Given the description of an element on the screen output the (x, y) to click on. 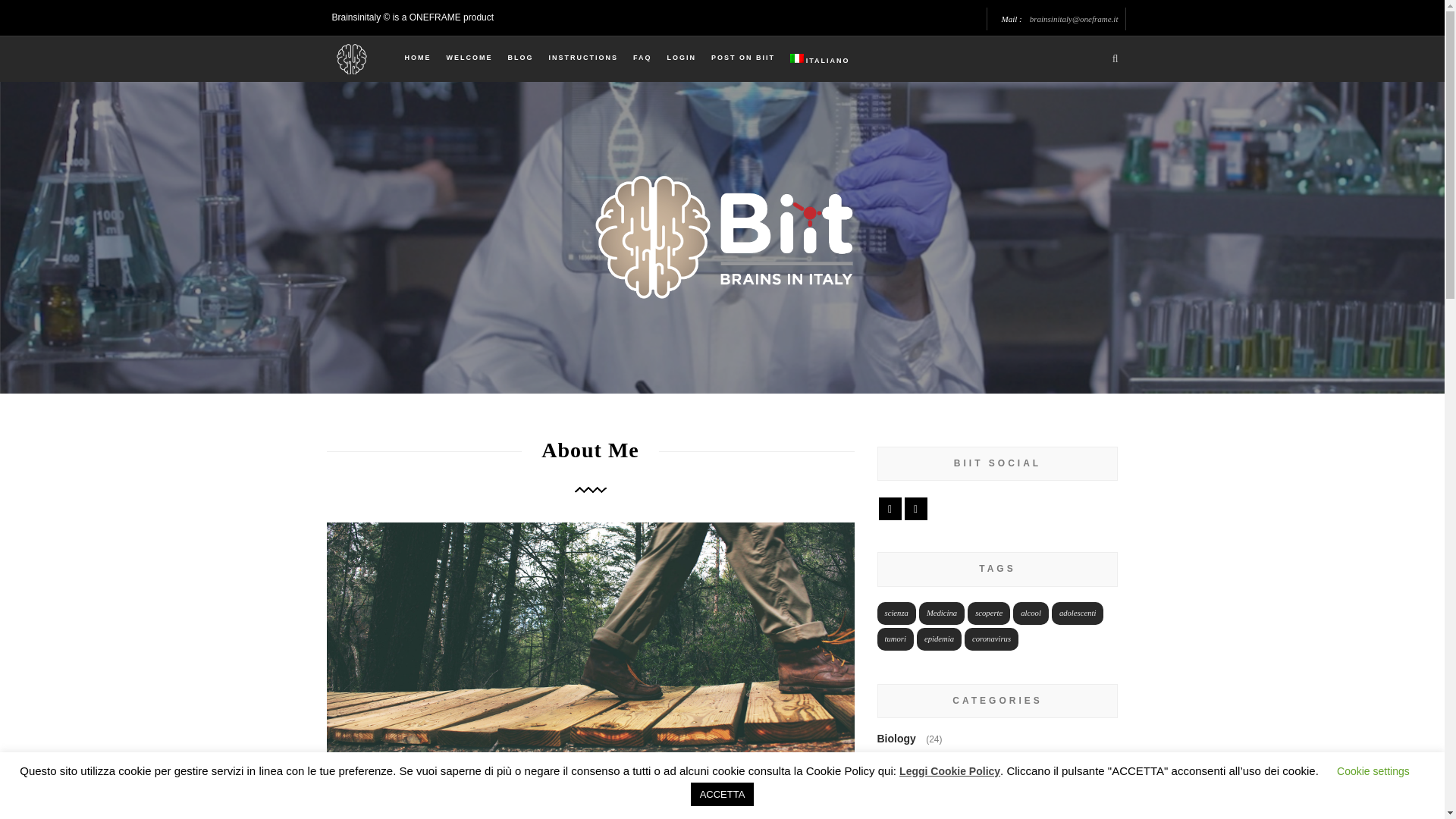
LOGIN (681, 57)
FAQ (642, 57)
HOME (416, 57)
POST ON BIIT (742, 57)
alcool (1030, 612)
ITALIANO (819, 58)
WELCOME (469, 57)
scoperte (989, 612)
Biology (899, 738)
tumori (894, 639)
scienza (895, 612)
INSTRUCTIONS (582, 57)
Computer science (925, 796)
BLOG (520, 57)
Italiano (819, 58)
